Given the description of an element on the screen output the (x, y) to click on. 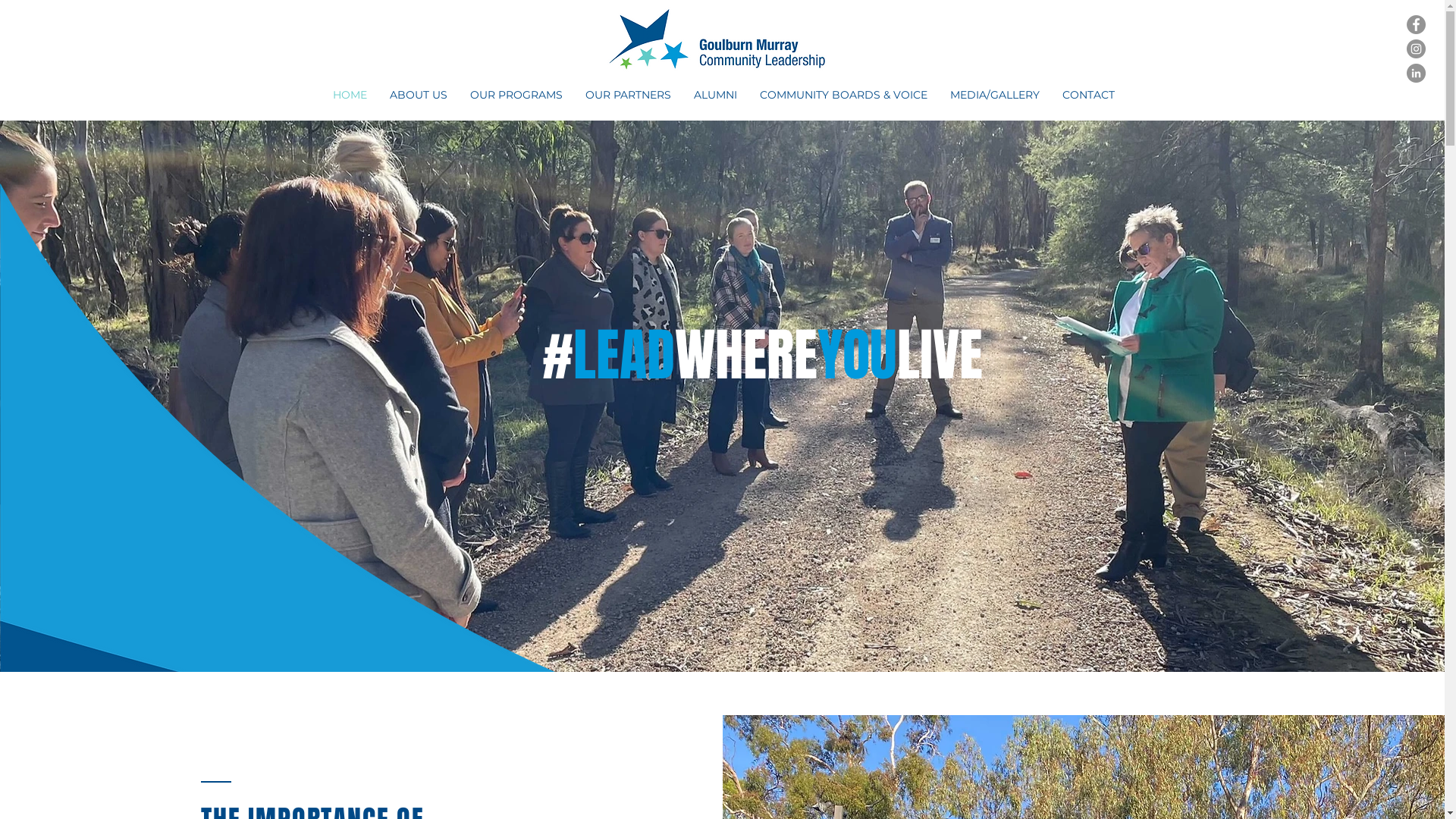
OUR PARTNERS Element type: text (627, 94)
HOME Element type: text (349, 94)
CONTACT Element type: text (1088, 94)
OUR PROGRAMS Element type: text (515, 94)
COMMUNITY BOARDS & VOICE Element type: text (842, 94)
ALUMNI Element type: text (715, 94)
ABOUT US Element type: text (417, 94)
MEDIA/GALLERY Element type: text (994, 94)
